Given the description of an element on the screen output the (x, y) to click on. 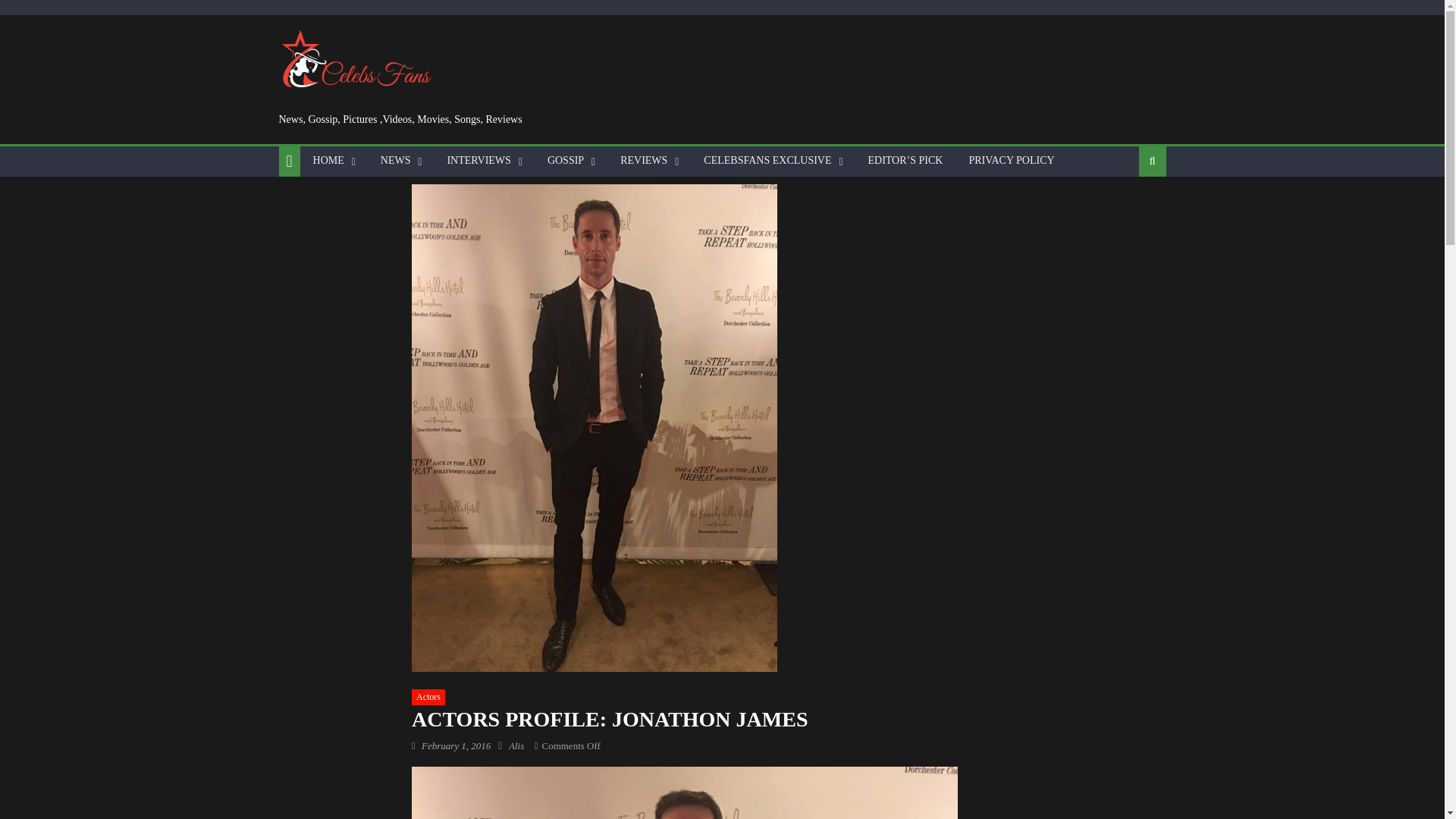
CELEBSFANS EXCLUSIVE (768, 160)
HOME (328, 160)
INTERVIEWS (478, 160)
Alis (516, 745)
February 1, 2016 (456, 745)
PRIVACY POLICY (1010, 160)
NEWS (395, 160)
REVIEWS (643, 160)
Search (1128, 210)
Actors (428, 697)
GOSSIP (565, 160)
